Given the description of an element on the screen output the (x, y) to click on. 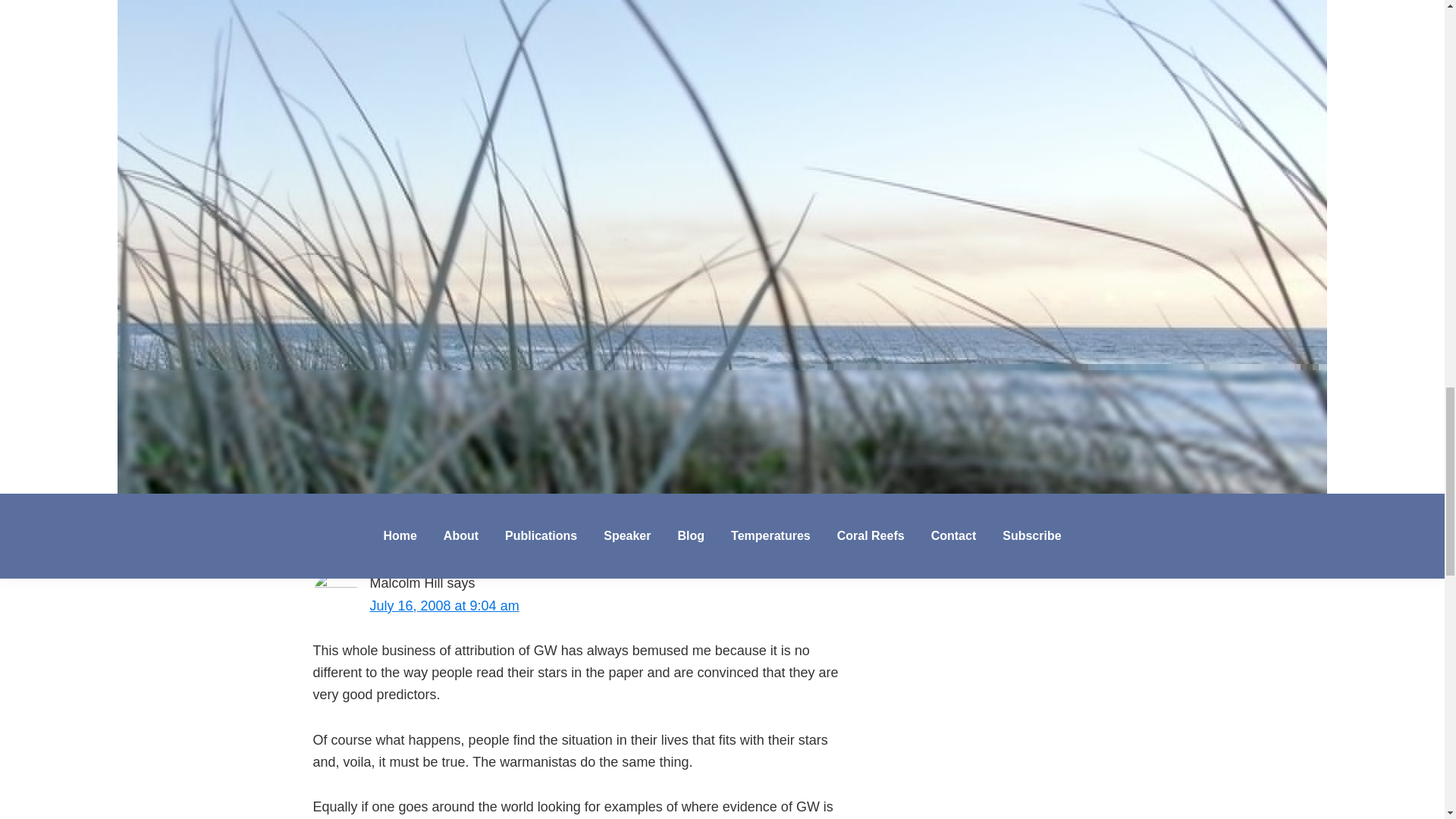
July 16, 2008 at 9:04 am (444, 605)
July 15, 2008 at 10:23 pm (448, 186)
Woody (390, 396)
July 16, 2008 at 2:37 am (444, 418)
